Given the description of an element on the screen output the (x, y) to click on. 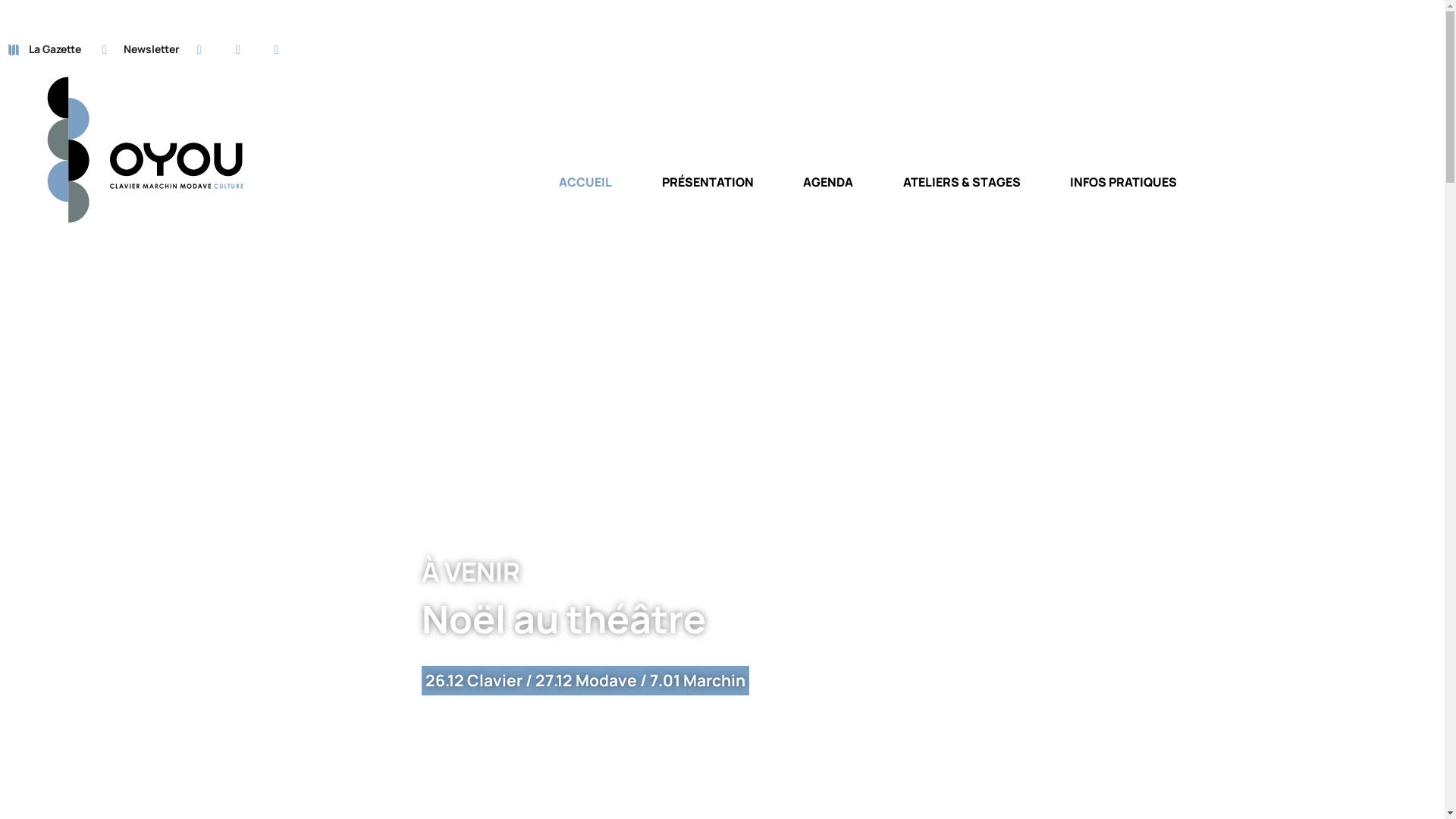
INFOS PRATIQUES Element type: text (1123, 193)
ACCUEIL Element type: text (585, 193)
Newsletter Element type: text (140, 49)
AGENDA Element type: text (827, 193)
ATELIERS & STAGES Element type: text (961, 193)
La Gazette Element type: text (44, 49)
